Given the description of an element on the screen output the (x, y) to click on. 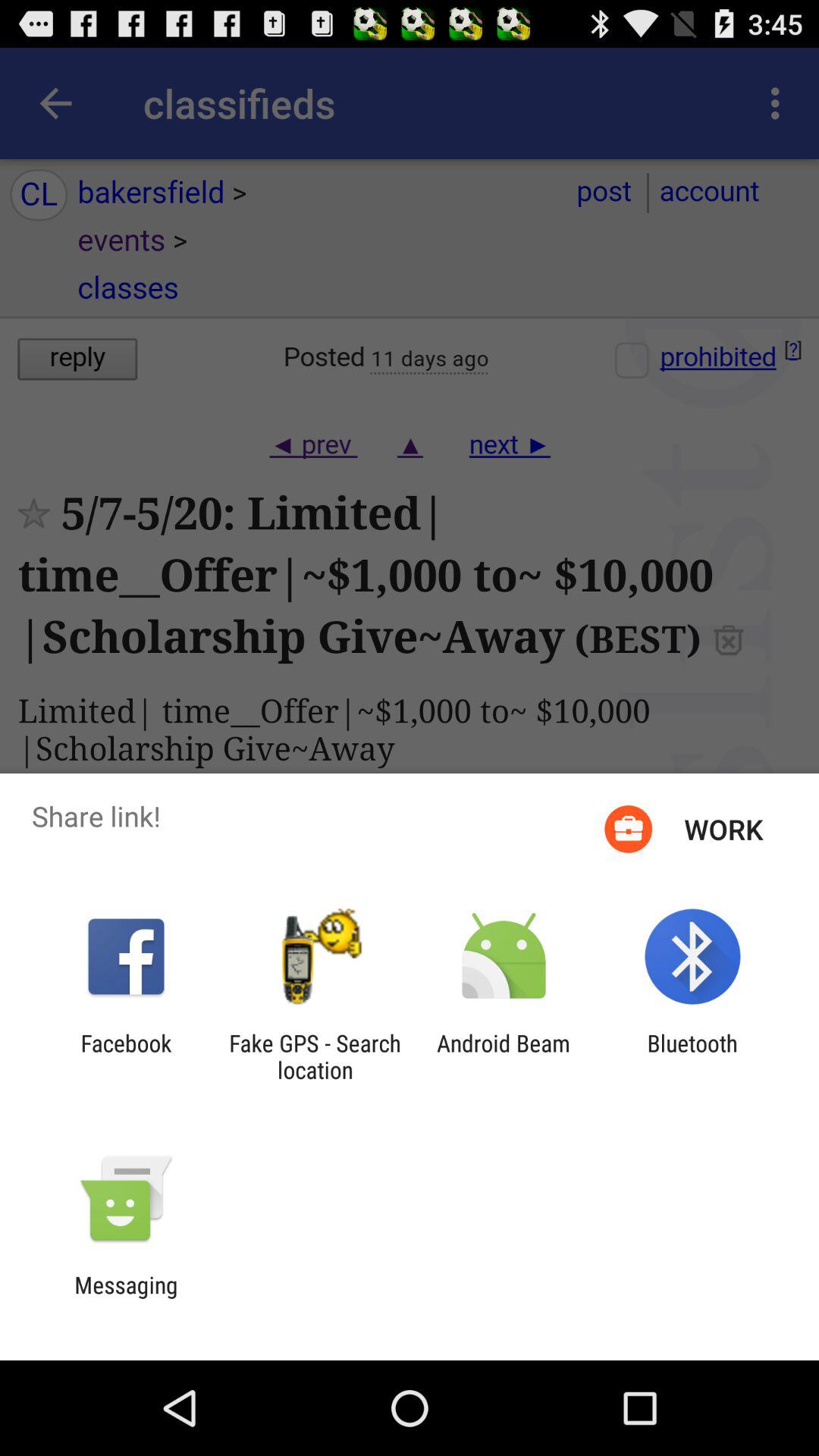
turn on bluetooth app (692, 1056)
